Given the description of an element on the screen output the (x, y) to click on. 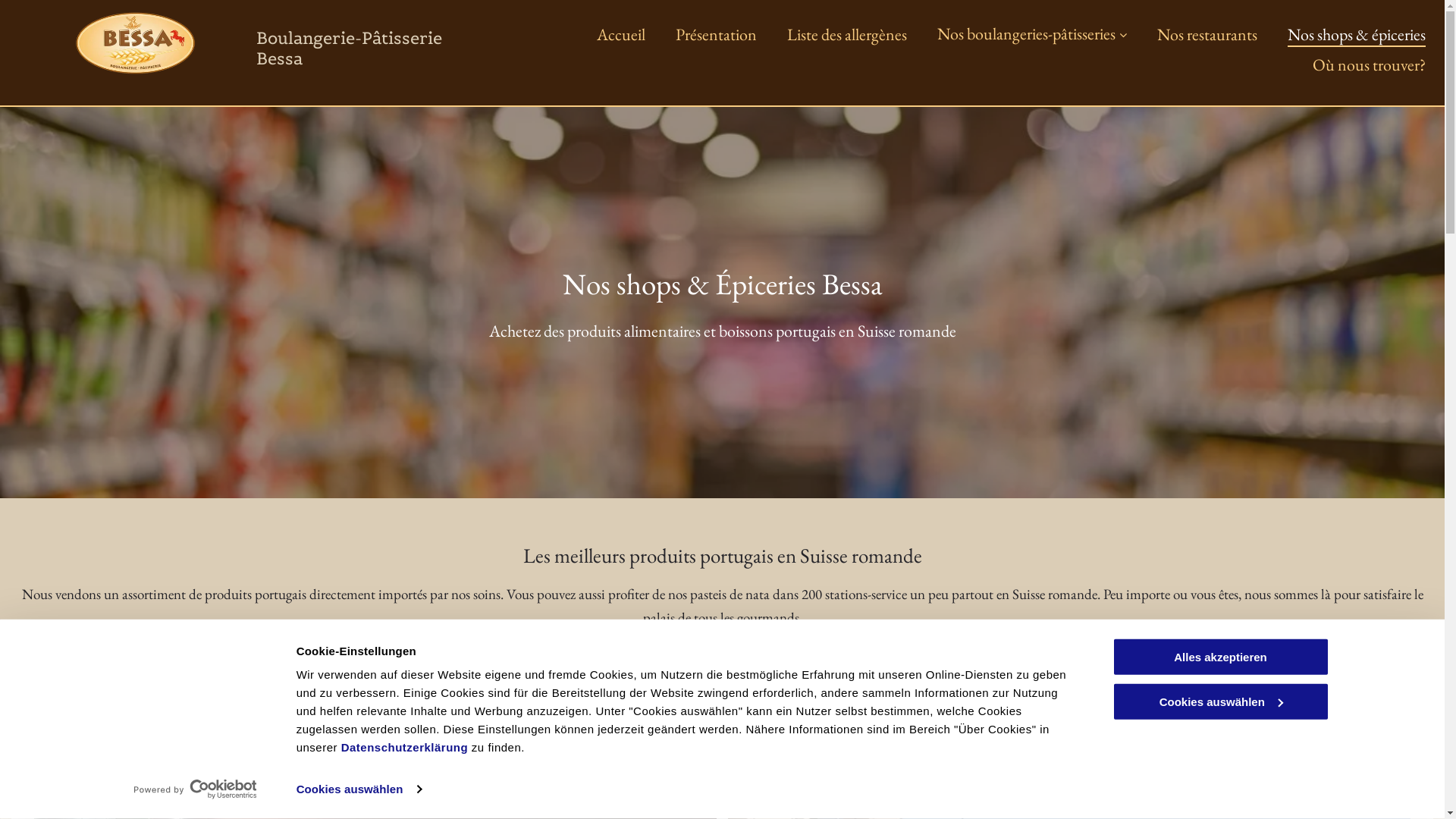
Les meilleurs produits portugais en Suisse romande Element type: text (722, 555)
Accueil Element type: text (620, 36)
Nos restaurants Element type: text (1207, 36)
Alles akzeptieren Element type: text (1219, 656)
